Given the description of an element on the screen output the (x, y) to click on. 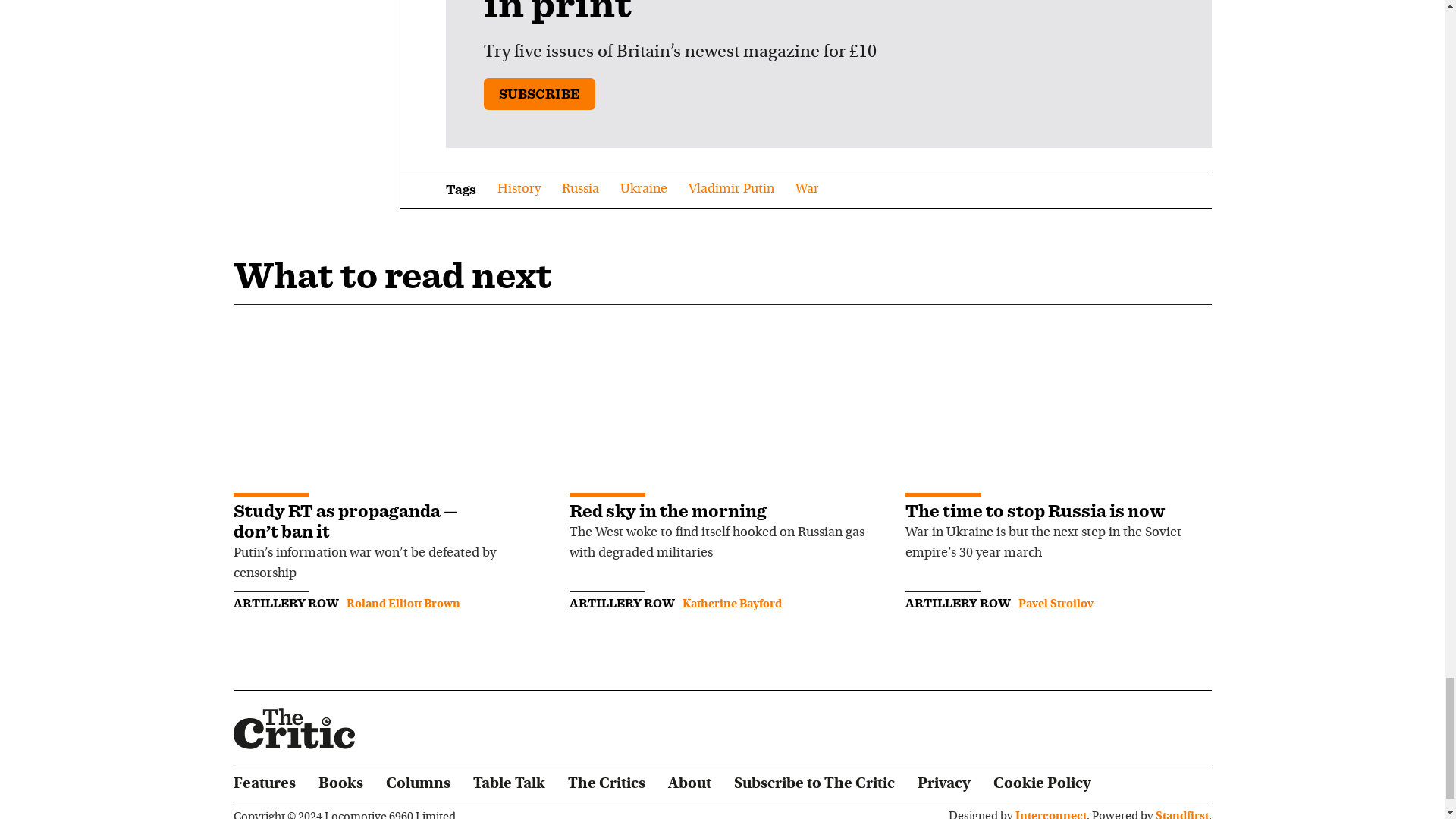
Red sky in the morning (668, 510)
Ukraine (643, 189)
Posts by Roland Elliott Brown (403, 604)
Russia (579, 189)
Posts by Pavel Stroilov (1055, 604)
History (518, 189)
Roland Elliott Brown (403, 604)
Vladimir Putin (731, 189)
ARTILLERY ROW (285, 603)
Posts by Katherine Bayford (731, 604)
